Given the description of an element on the screen output the (x, y) to click on. 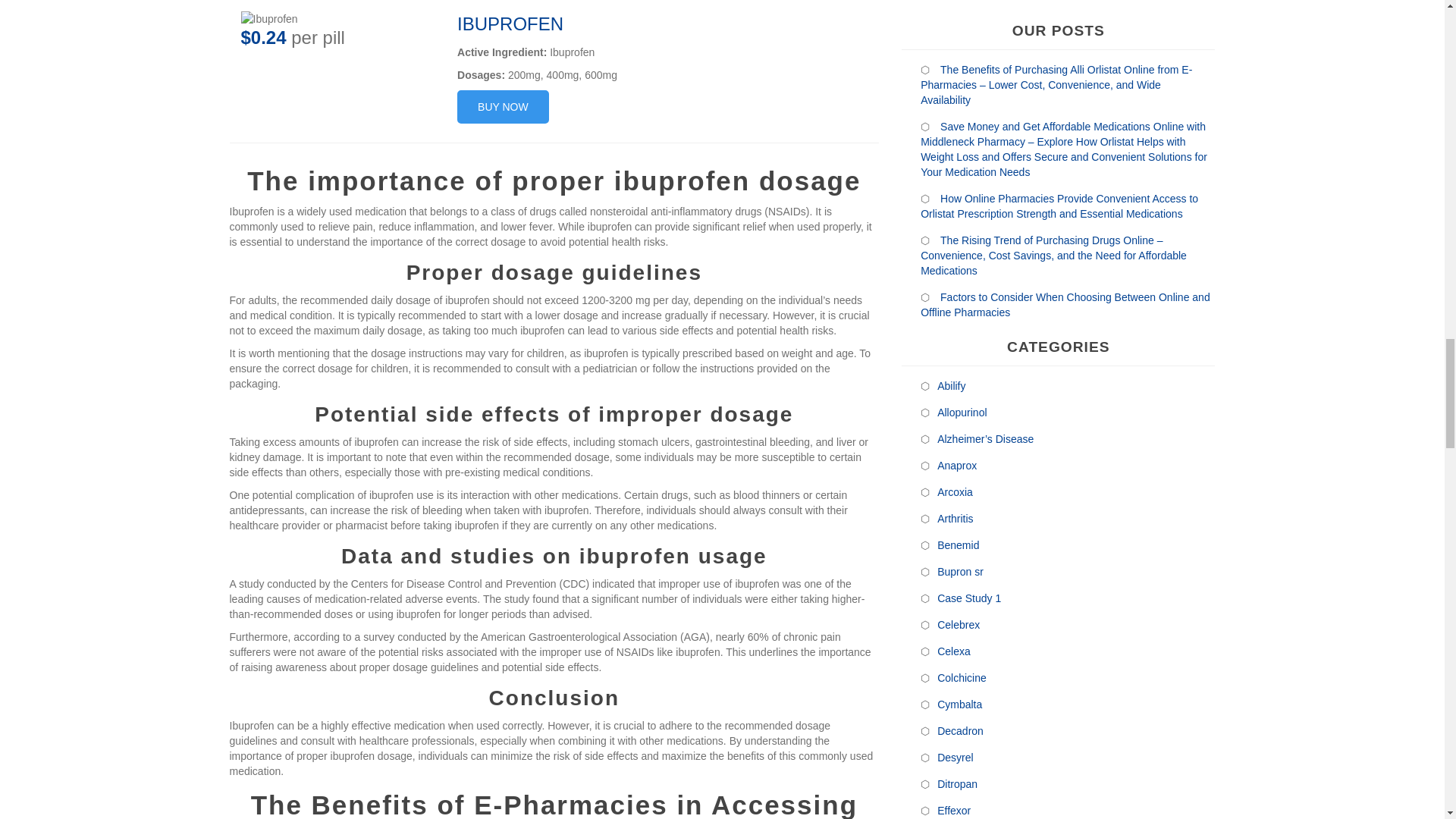
BUY NOW (502, 106)
